Given the description of an element on the screen output the (x, y) to click on. 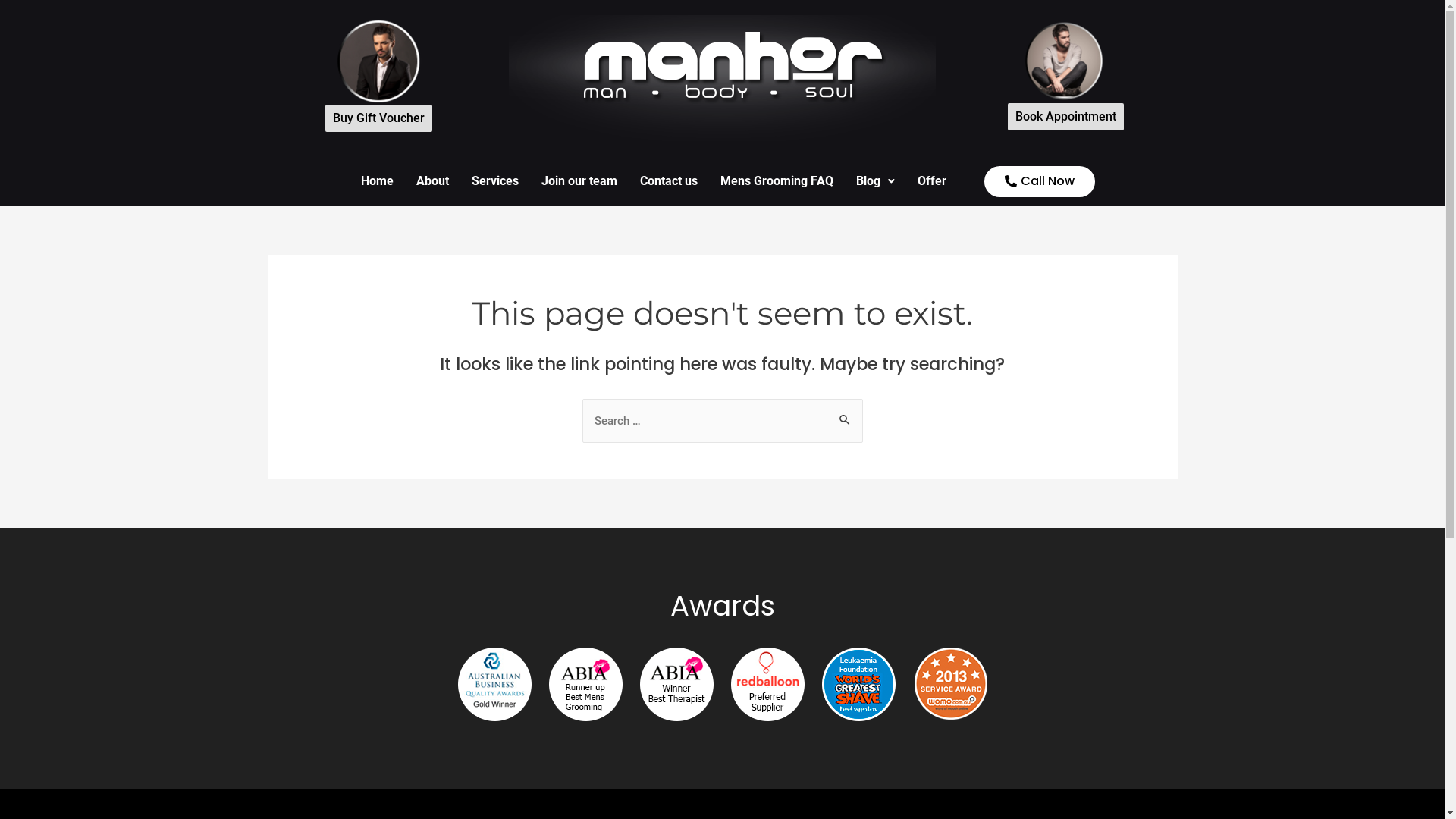
Buy Gift Voucher Element type: text (378, 117)
Offer Element type: text (931, 180)
Services Element type: text (495, 180)
Blog Element type: text (875, 180)
Search Element type: text (845, 413)
Mens Grooming FAQ Element type: text (776, 180)
Call Now Element type: text (1039, 180)
About Element type: text (432, 180)
Home Element type: text (376, 180)
Join our team Element type: text (579, 180)
Book Appointment Element type: text (1065, 116)
Contact us Element type: text (668, 180)
